Given the description of an element on the screen output the (x, y) to click on. 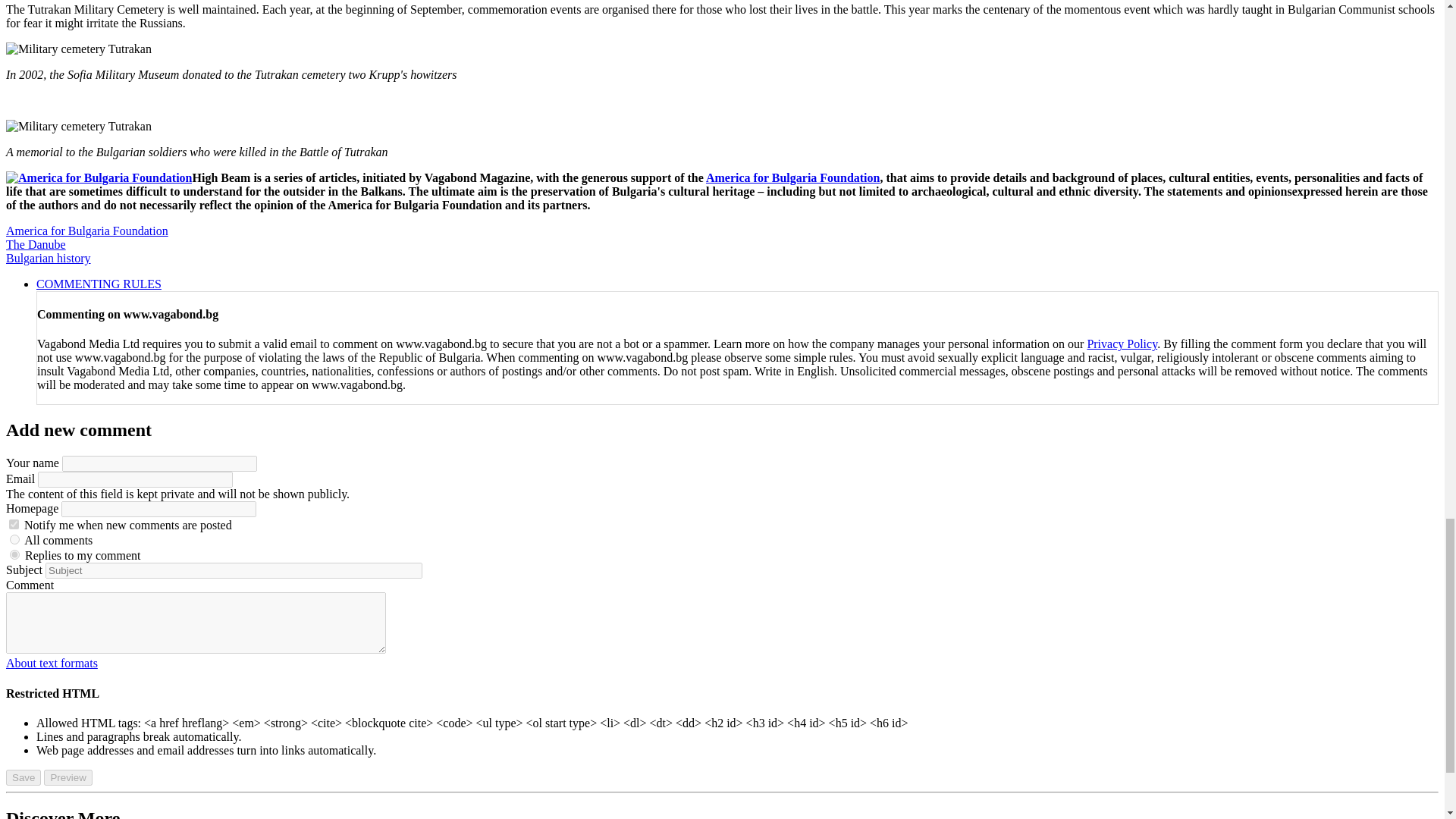
1 (15, 539)
Save (22, 777)
2 (15, 554)
Preview (67, 777)
1 (13, 524)
